Given the description of an element on the screen output the (x, y) to click on. 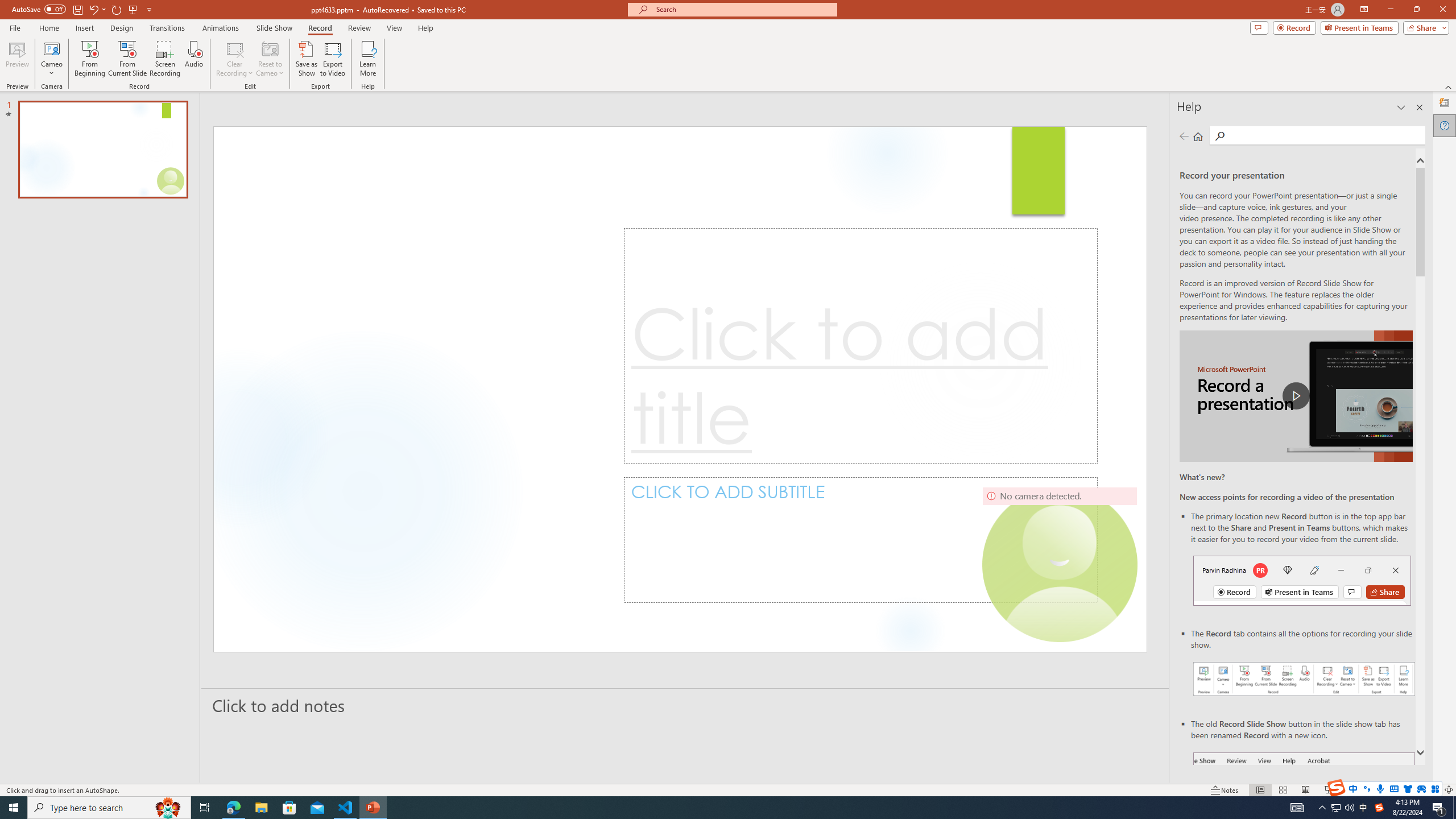
Zoom 129% (1430, 790)
Record your presentations screenshot one (1304, 678)
From Beginning... (89, 58)
